Given the description of an element on the screen output the (x, y) to click on. 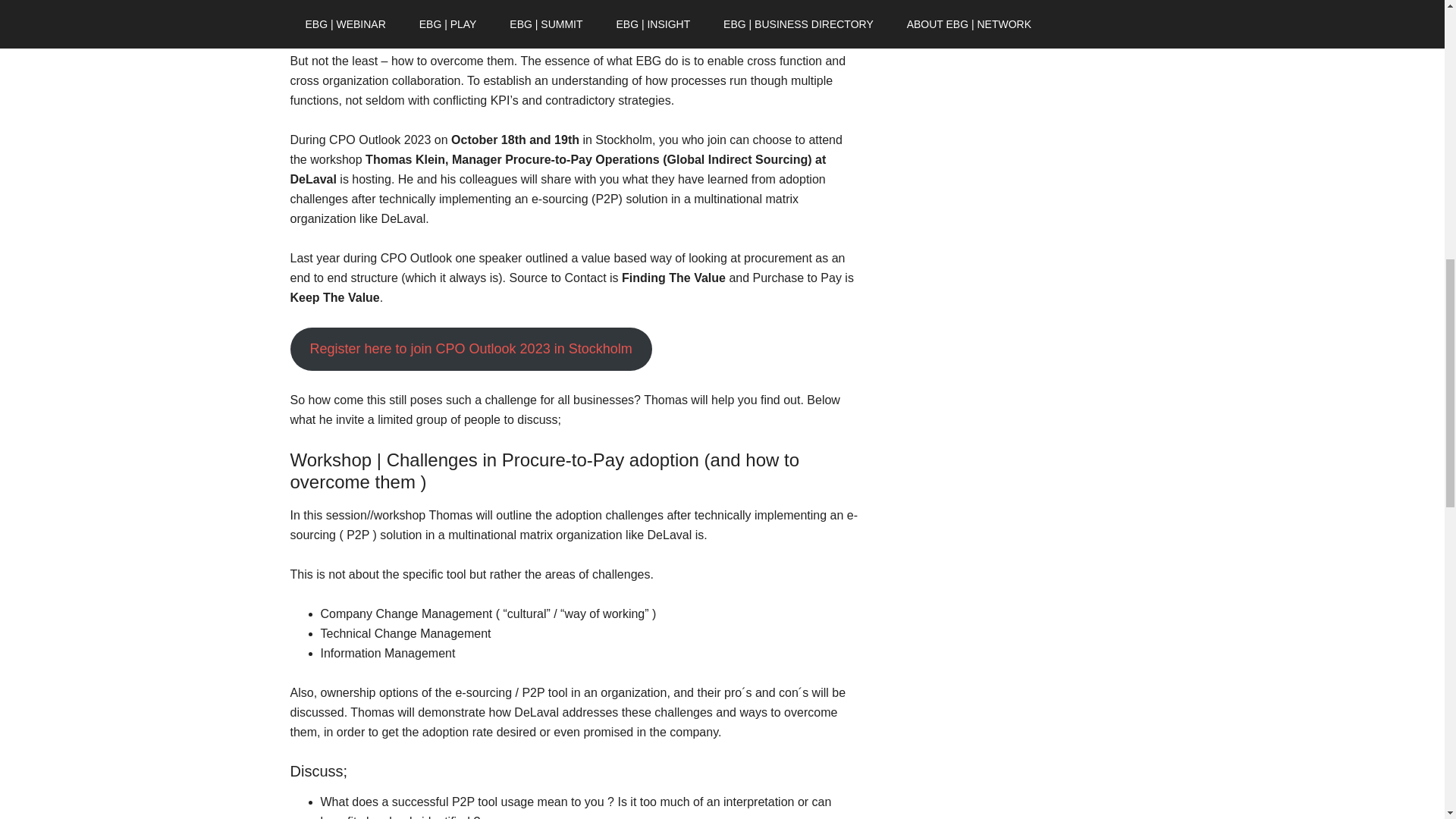
Register here to join CPO Outlook 2023 in Stockholm (469, 349)
